Given the description of an element on the screen output the (x, y) to click on. 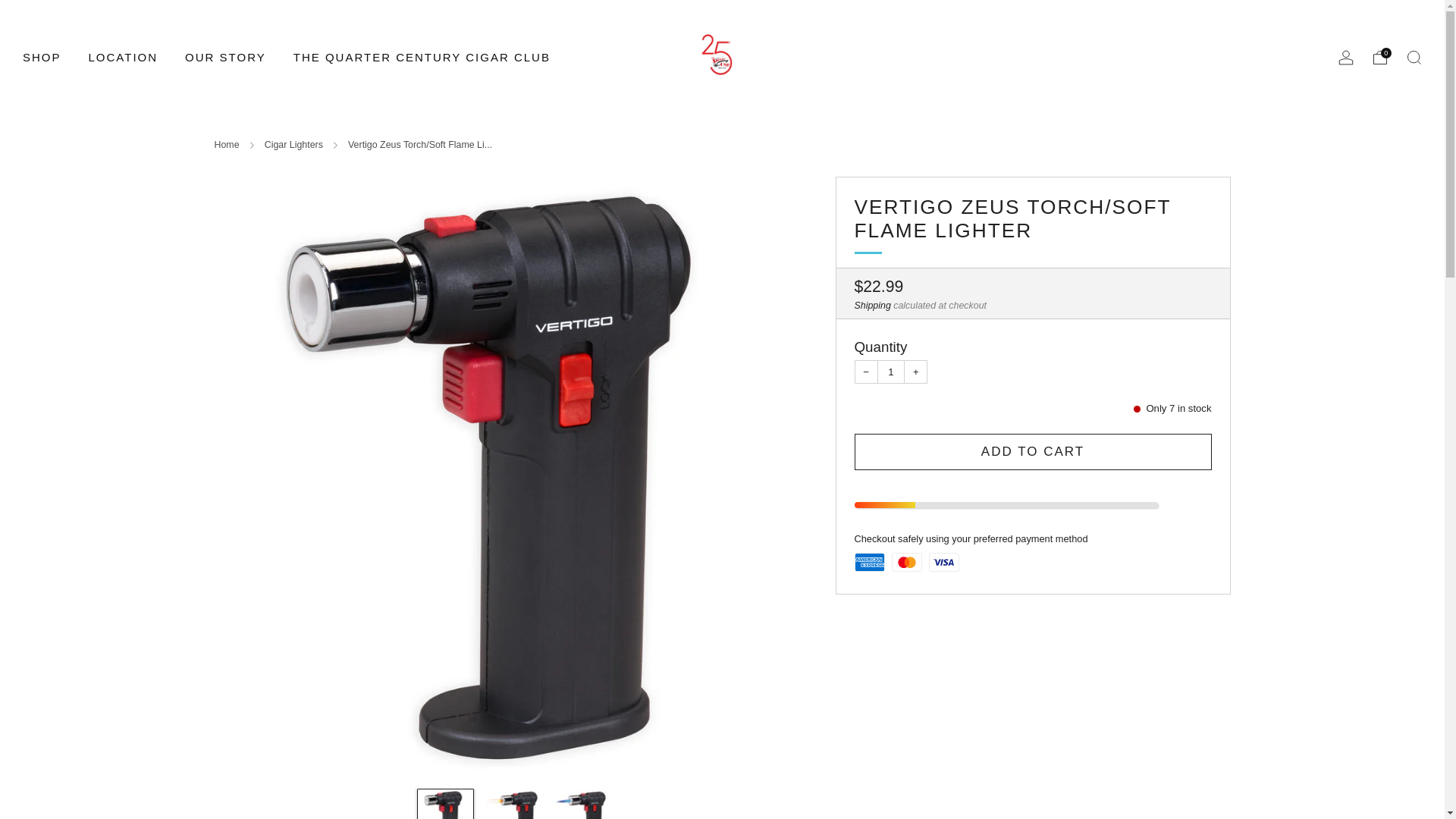
Home (226, 144)
THE QUARTER CENTURY CIGAR CLUB (422, 55)
0 (1380, 57)
1 (891, 372)
OUR STORY (225, 55)
SHOP (42, 55)
LOCATION (123, 55)
